Given the description of an element on the screen output the (x, y) to click on. 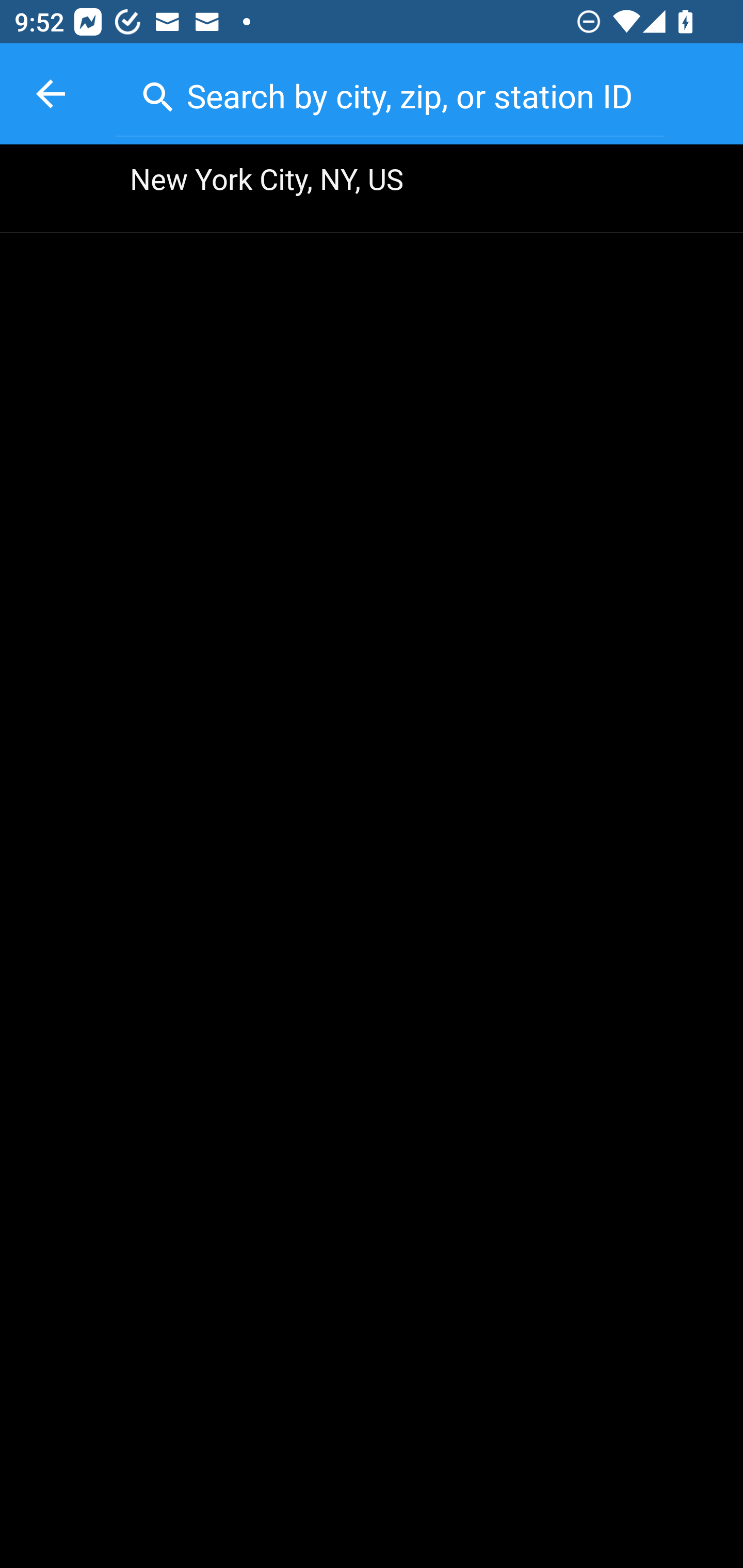
back (50, 93)
   Search by city, zip, or station ID (389, 92)
New York City, NY, US (371, 188)
